Given the description of an element on the screen output the (x, y) to click on. 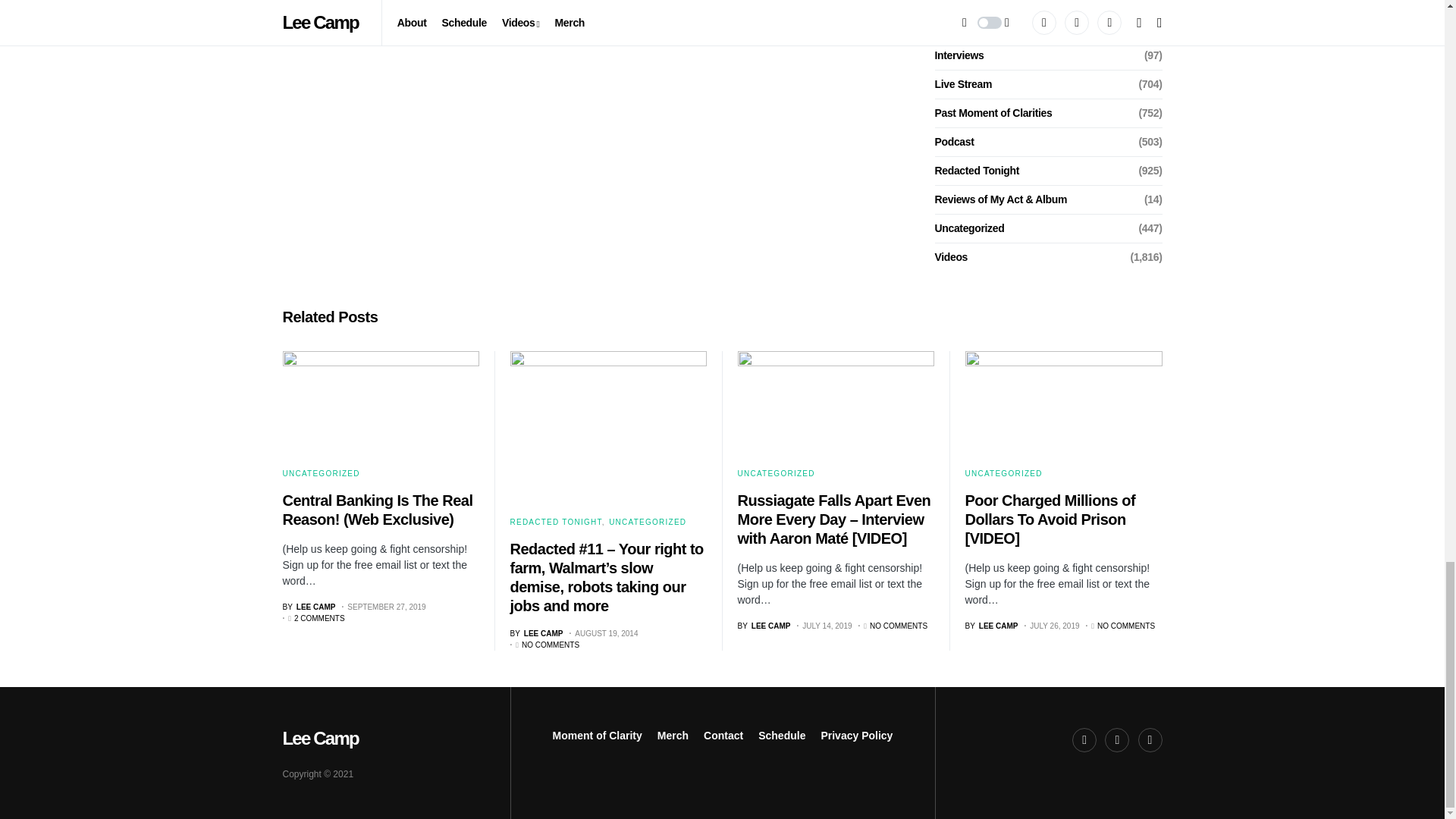
View all posts by Lee Camp (990, 625)
View all posts by Lee Camp (763, 625)
View all posts by Lee Camp (308, 606)
View all posts by Lee Camp (535, 633)
